Given the description of an element on the screen output the (x, y) to click on. 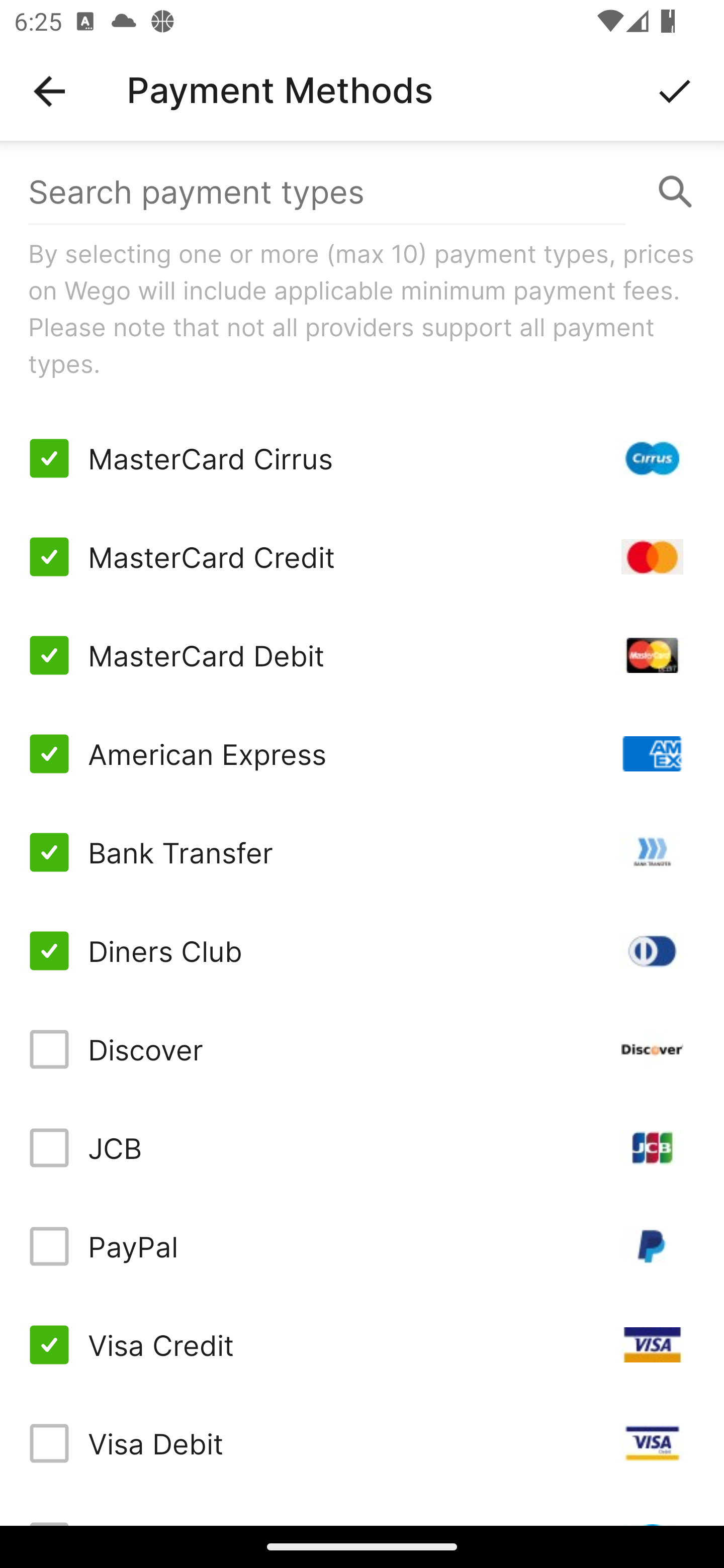
Search payment types  (361, 191)
MasterCard Cirrus (362, 458)
MasterCard Credit (362, 557)
MasterCard Debit (362, 655)
American Express (362, 753)
Bank Transfer (362, 851)
Diners Club (362, 950)
Discover (362, 1049)
JCB (362, 1147)
PayPal (362, 1245)
Visa Credit (362, 1344)
Visa Debit (362, 1442)
